Given the description of an element on the screen output the (x, y) to click on. 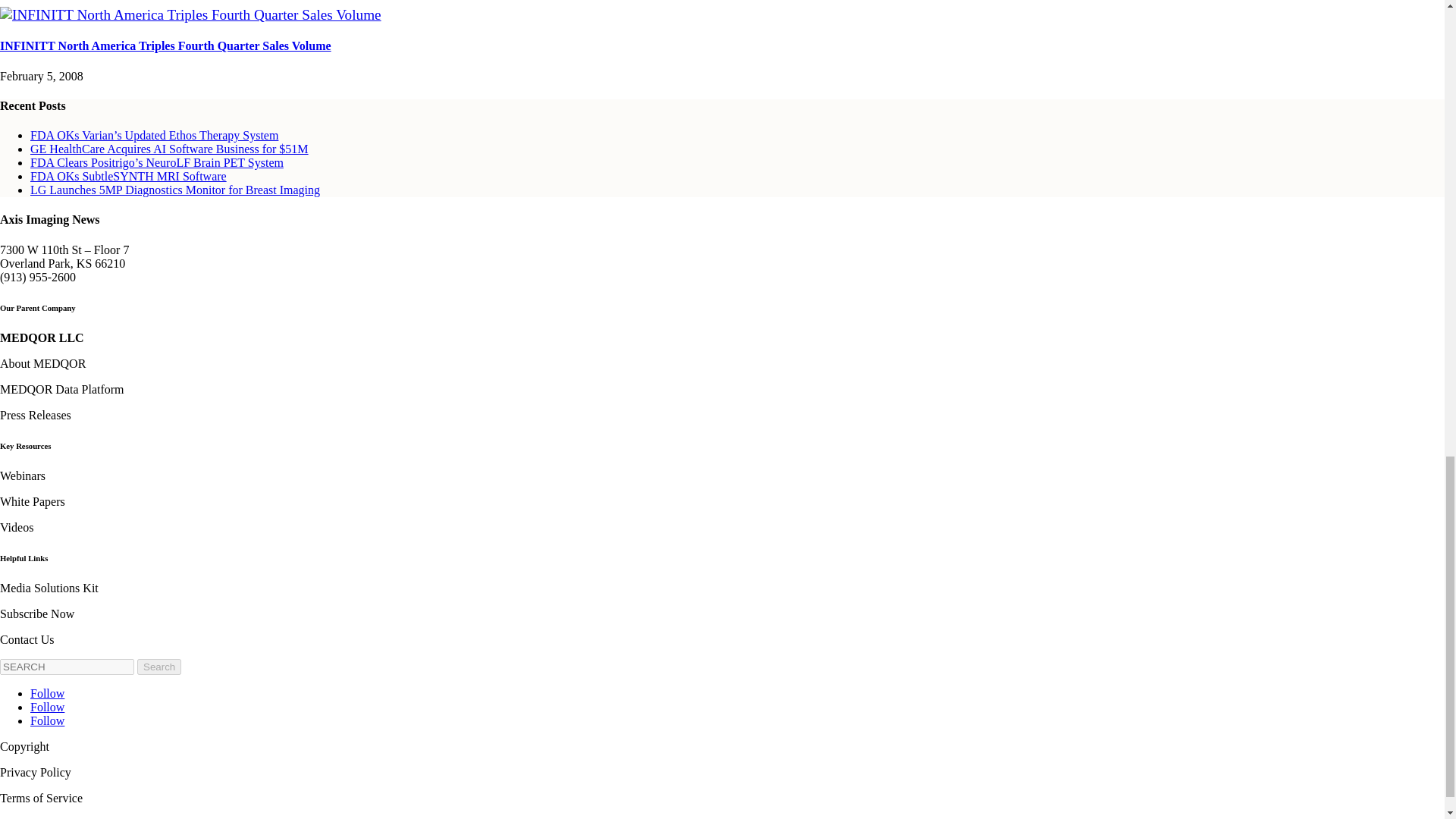
Search (158, 666)
Search (158, 666)
Follow on Facebook (47, 693)
Follow on X (47, 707)
Follow on LinkedIn (47, 720)
INFINITT North America Triples Fourth Quarter Sales Volume (190, 14)
